Given the description of an element on the screen output the (x, y) to click on. 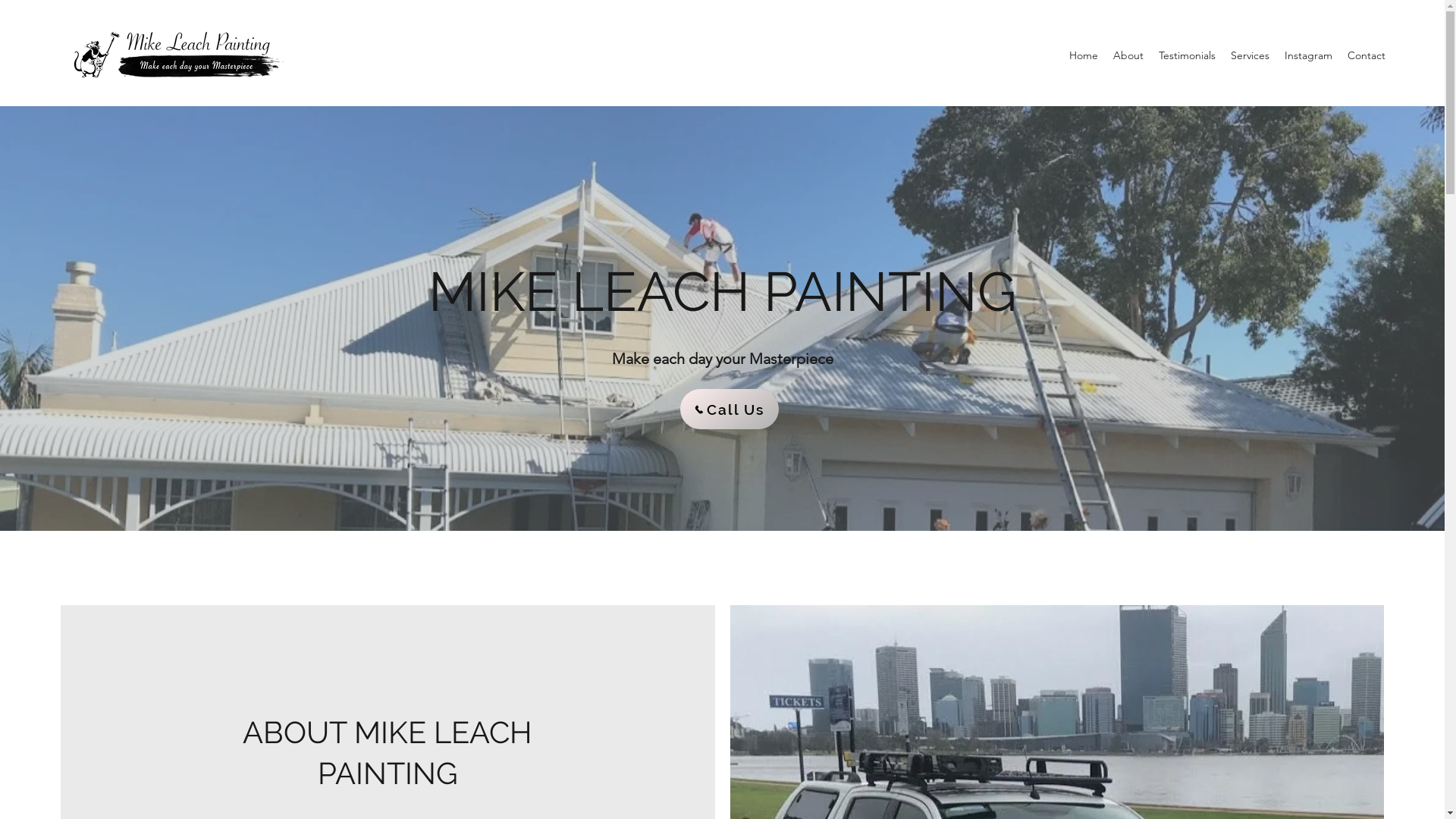
Contact Element type: text (1366, 54)
Call Us Element type: text (728, 409)
About Element type: text (1128, 54)
Services Element type: text (1250, 54)
Instagram Element type: text (1308, 54)
Testimonials Element type: text (1187, 54)
Home Element type: text (1083, 54)
